Given the description of an element on the screen output the (x, y) to click on. 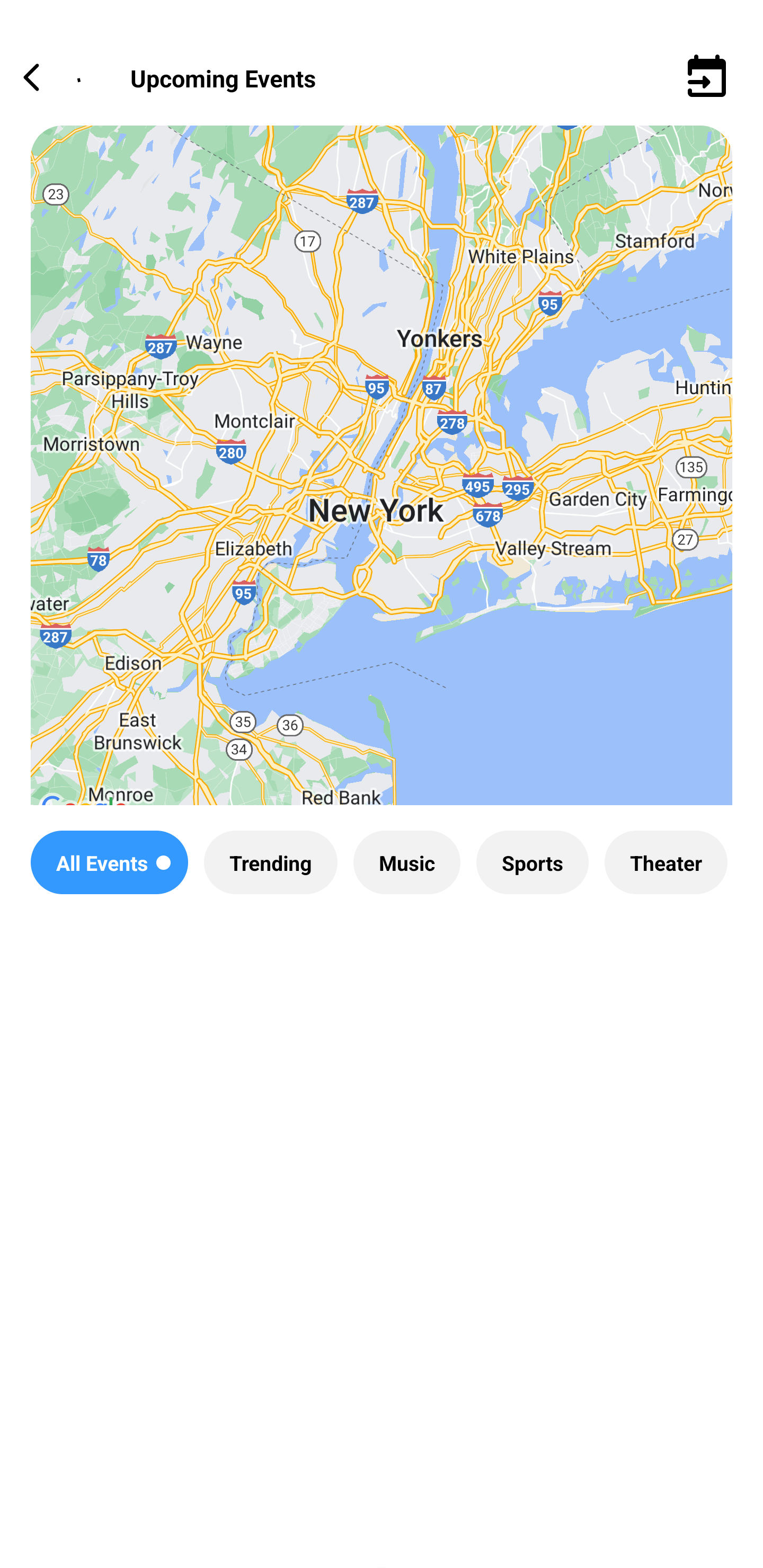
Google Map (381, 480)
All Events (109, 862)
Trending (270, 862)
Music (406, 862)
Sports (532, 862)
Theater (665, 862)
